Given the description of an element on the screen output the (x, y) to click on. 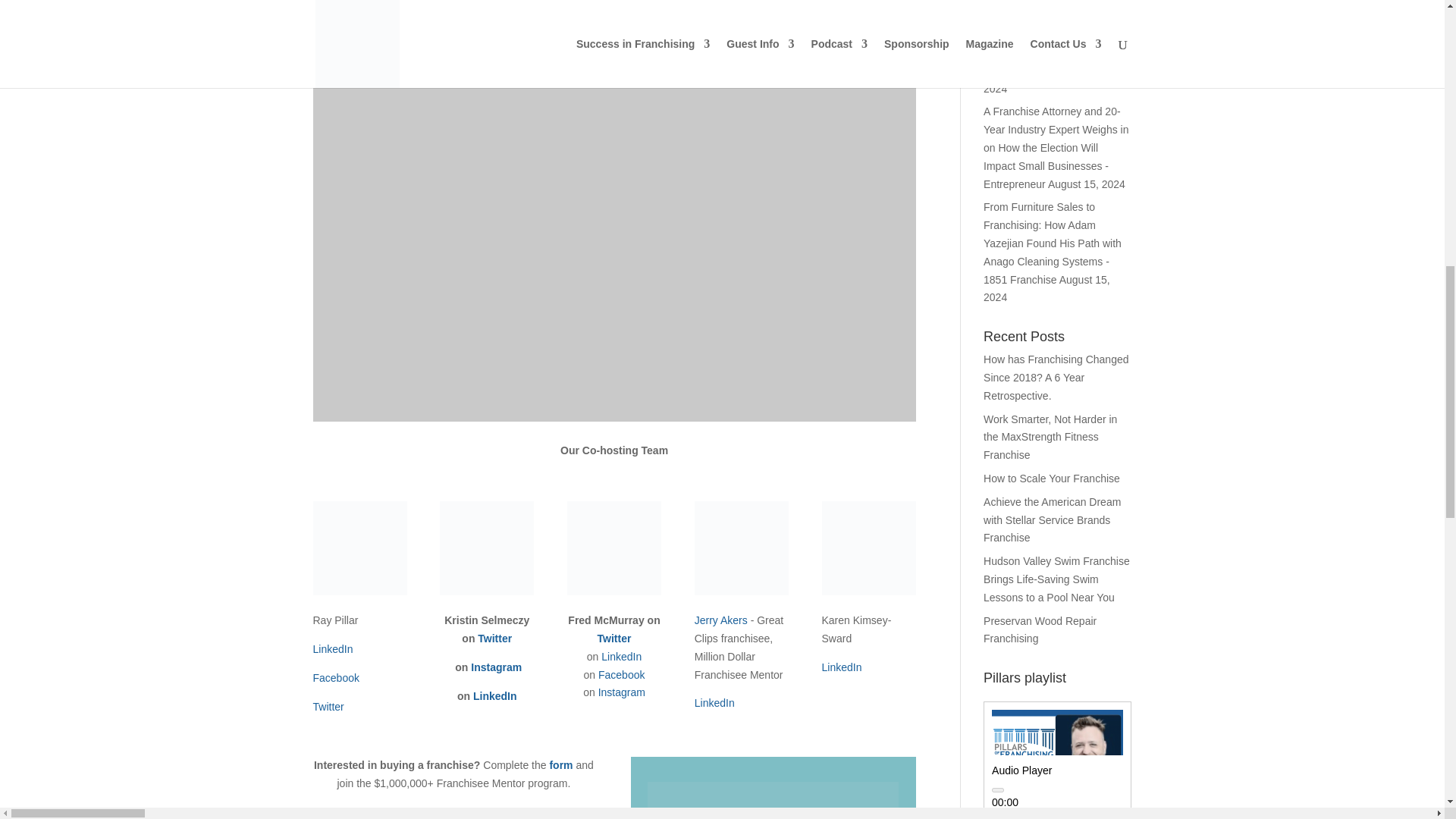
LinkedIn (332, 648)
Facebook (335, 677)
Fred-McMurray-Pillars-cohost-image (614, 548)
Better Kristin bio image (486, 548)
Jerry Akers Pillars guest image (741, 548)
Instagram (495, 666)
Twitter (328, 706)
Twitter (494, 638)
Twitter (613, 638)
Ray-Pillar-Pillars-co-host-image (359, 548)
